Given the description of an element on the screen output the (x, y) to click on. 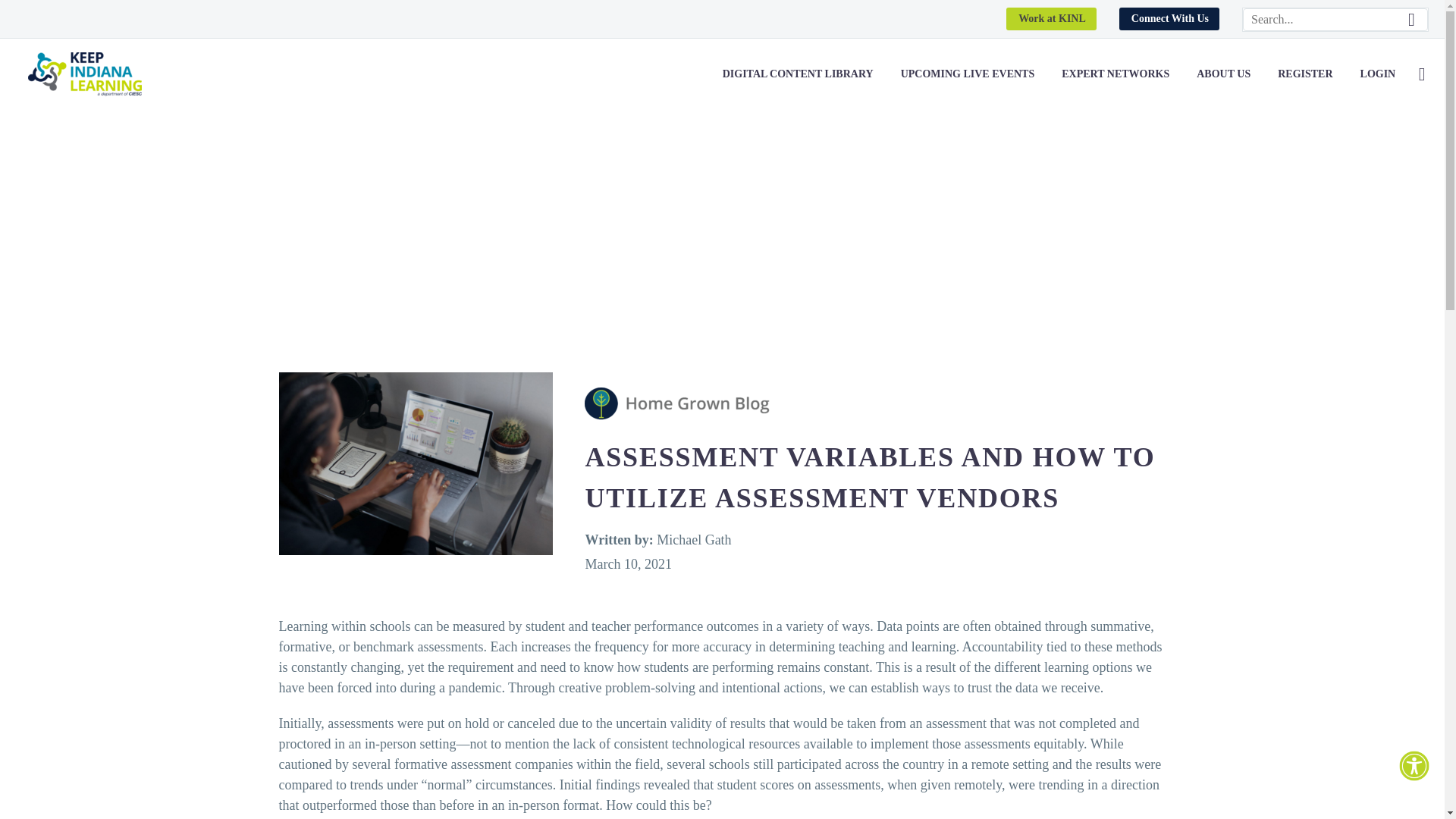
Accessibility Helper sidebar (1414, 766)
DIGITAL CONTENT LIBRARY (798, 74)
UPCOMING LIVE EVENTS (967, 74)
EXPERT NETWORKS (1114, 74)
Connect With Us (1169, 18)
Work at KINL (1051, 18)
ABOUT US (1223, 74)
